Given the description of an element on the screen output the (x, y) to click on. 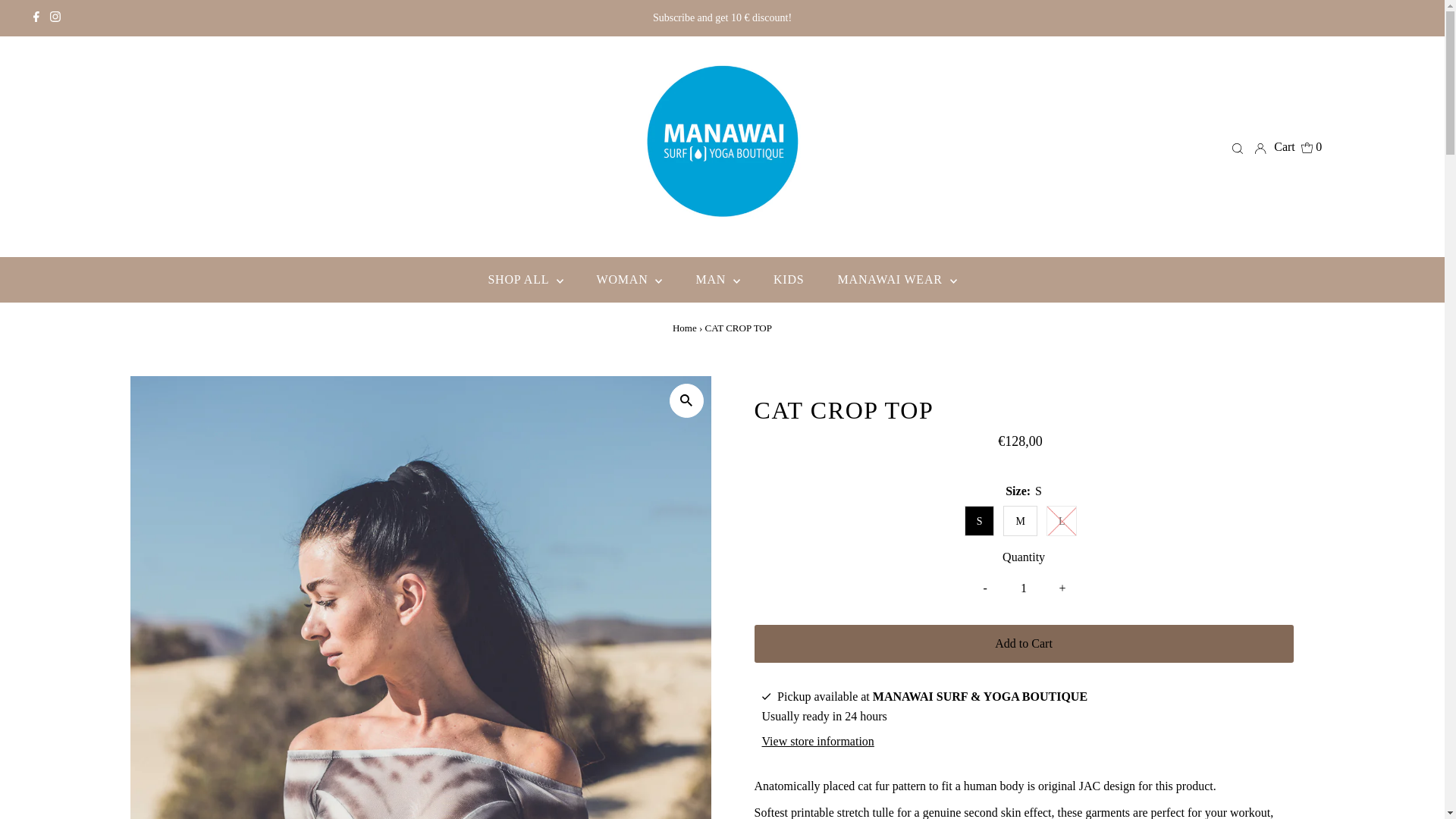
1 (1023, 588)
Home (684, 327)
Click to zoom (685, 400)
Add to Cart (1023, 643)
